Given the description of an element on the screen output the (x, y) to click on. 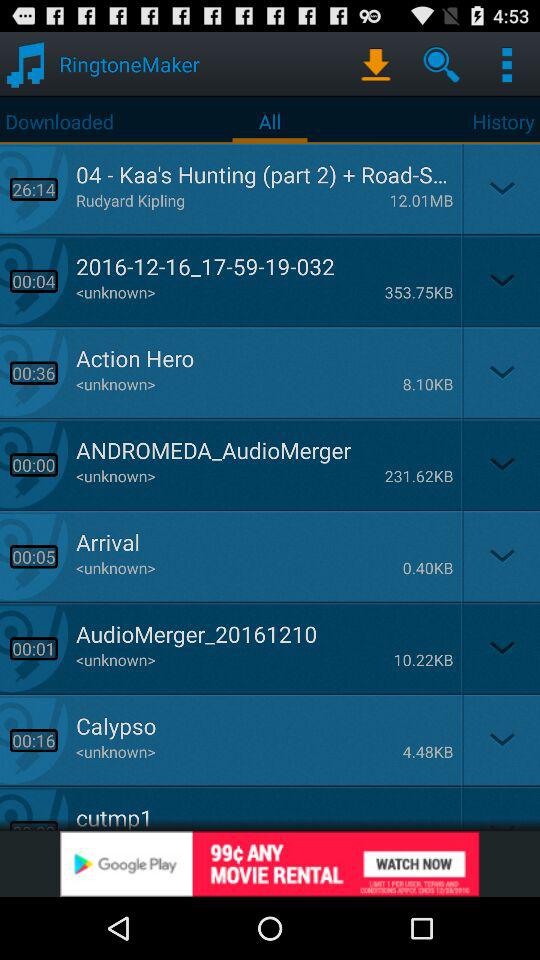
open advertisements website (270, 864)
